Given the description of an element on the screen output the (x, y) to click on. 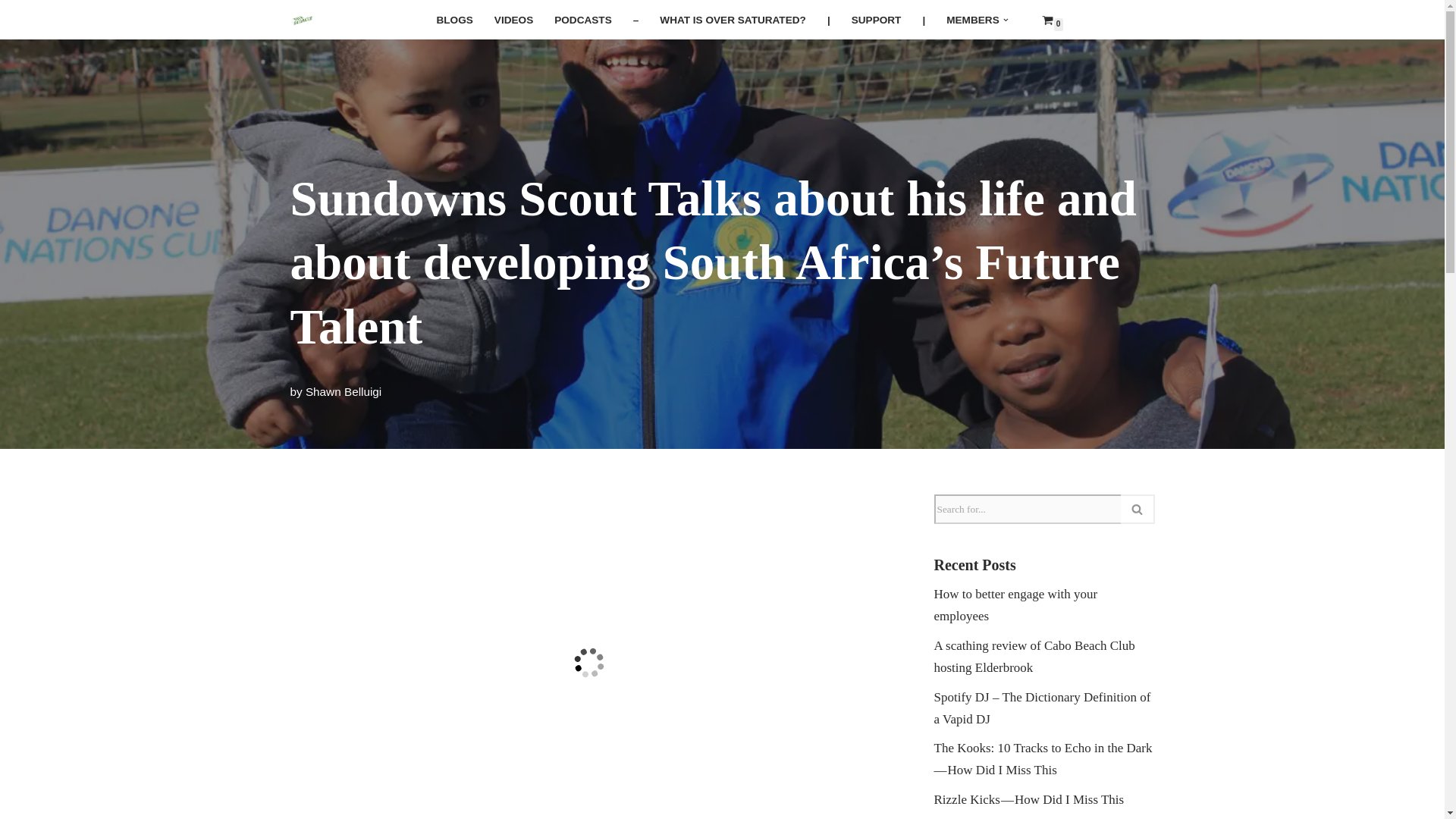
SUPPORT (876, 19)
PODCASTS (582, 19)
MEMBERS (972, 19)
WHAT IS OVER SATURATED? (732, 19)
Skip to content (11, 31)
Shawn Belluigi (343, 391)
VIDEOS (513, 19)
BLOGS (453, 19)
Posts by Shawn Belluigi (343, 391)
Members (972, 19)
